Given the description of an element on the screen output the (x, y) to click on. 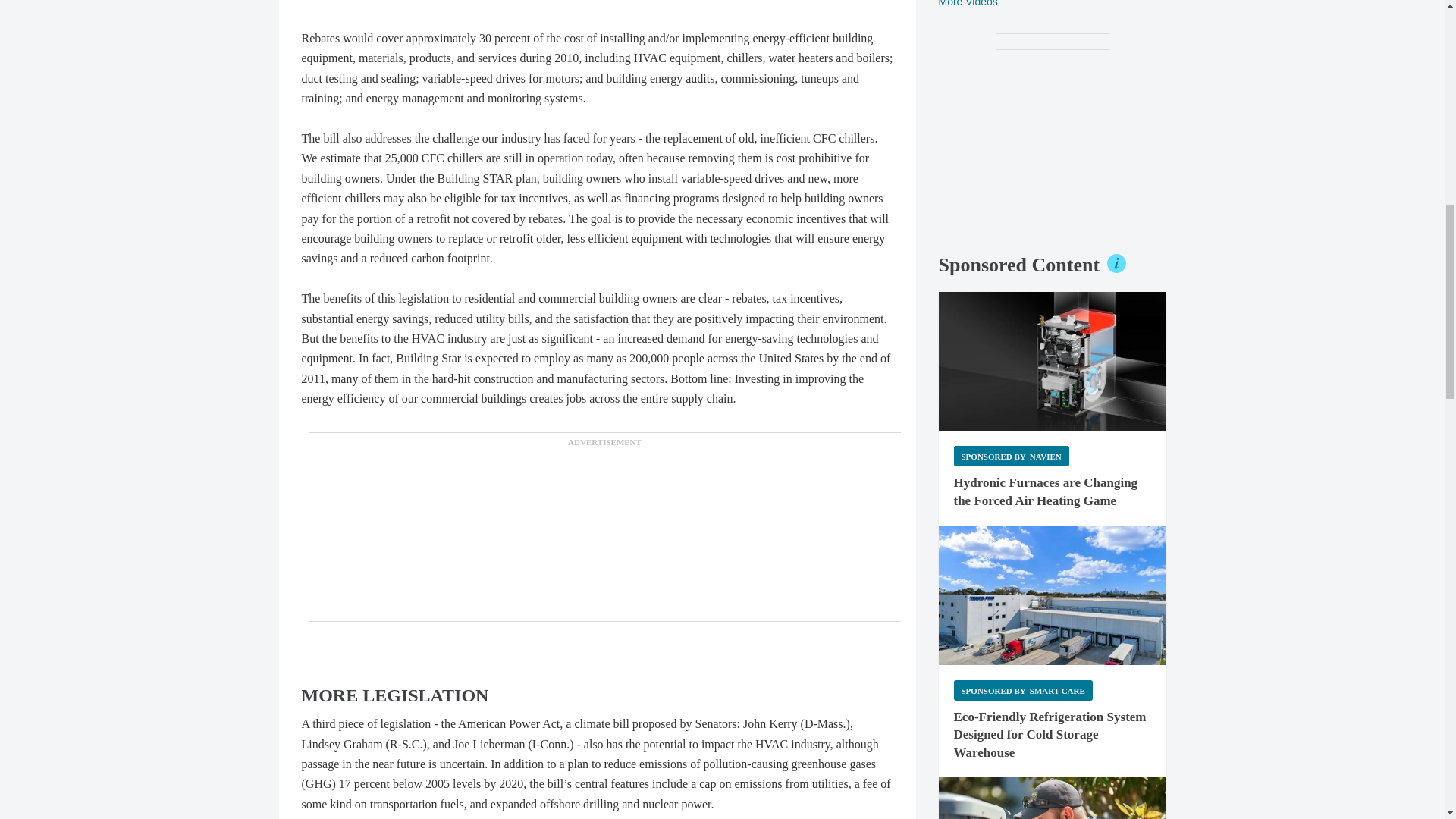
Sponsored by Smart Care (1023, 690)
Hydronic Forced Air Furnace Diagram (1052, 361)
Technician Working on HVAC Unit (1052, 798)
Sponsored by Navien (1010, 455)
Texas Frio Cold Storage (1052, 595)
